Given the description of an element on the screen output the (x, y) to click on. 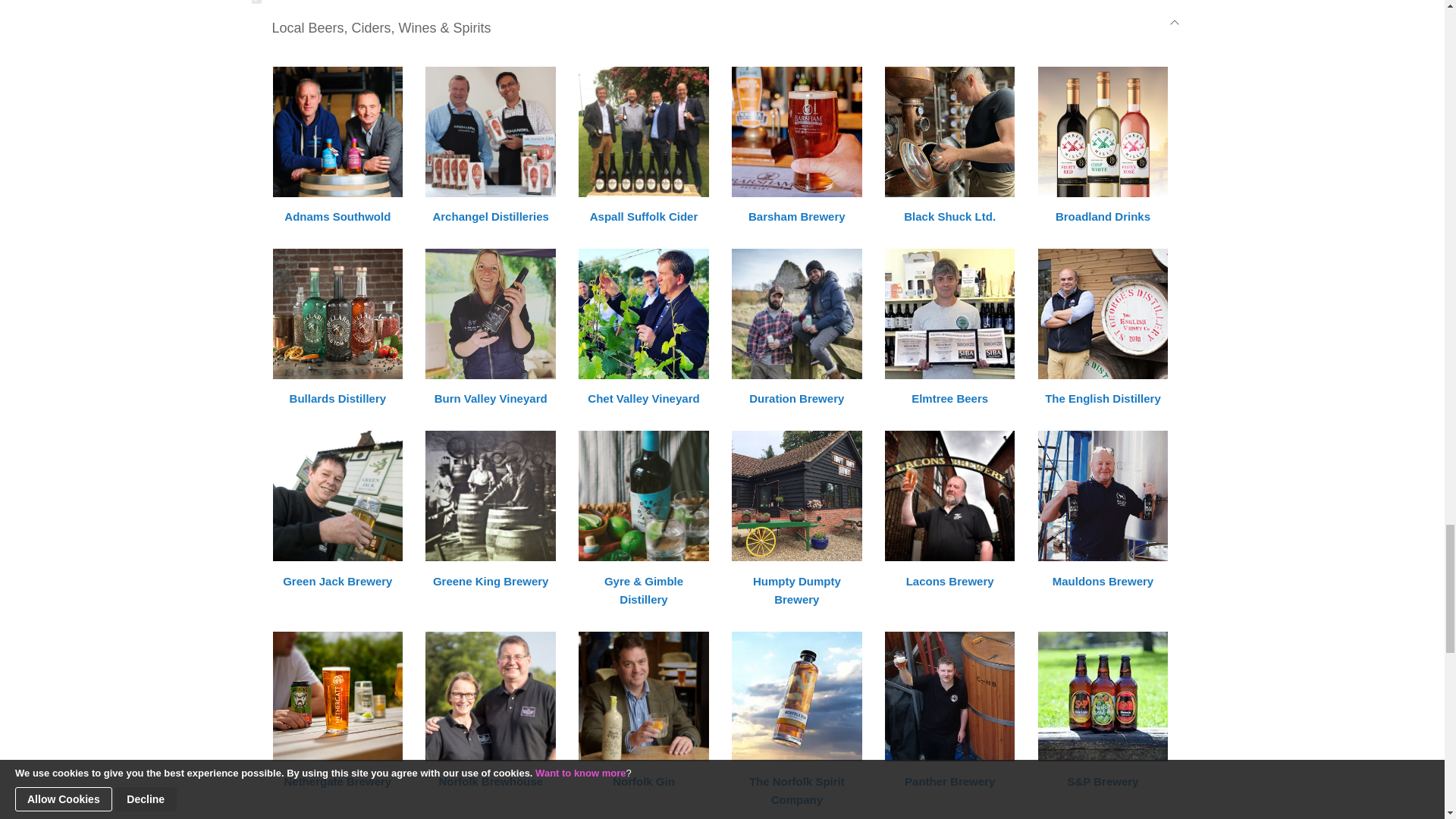
on (256, 2)
